Given the description of an element on the screen output the (x, y) to click on. 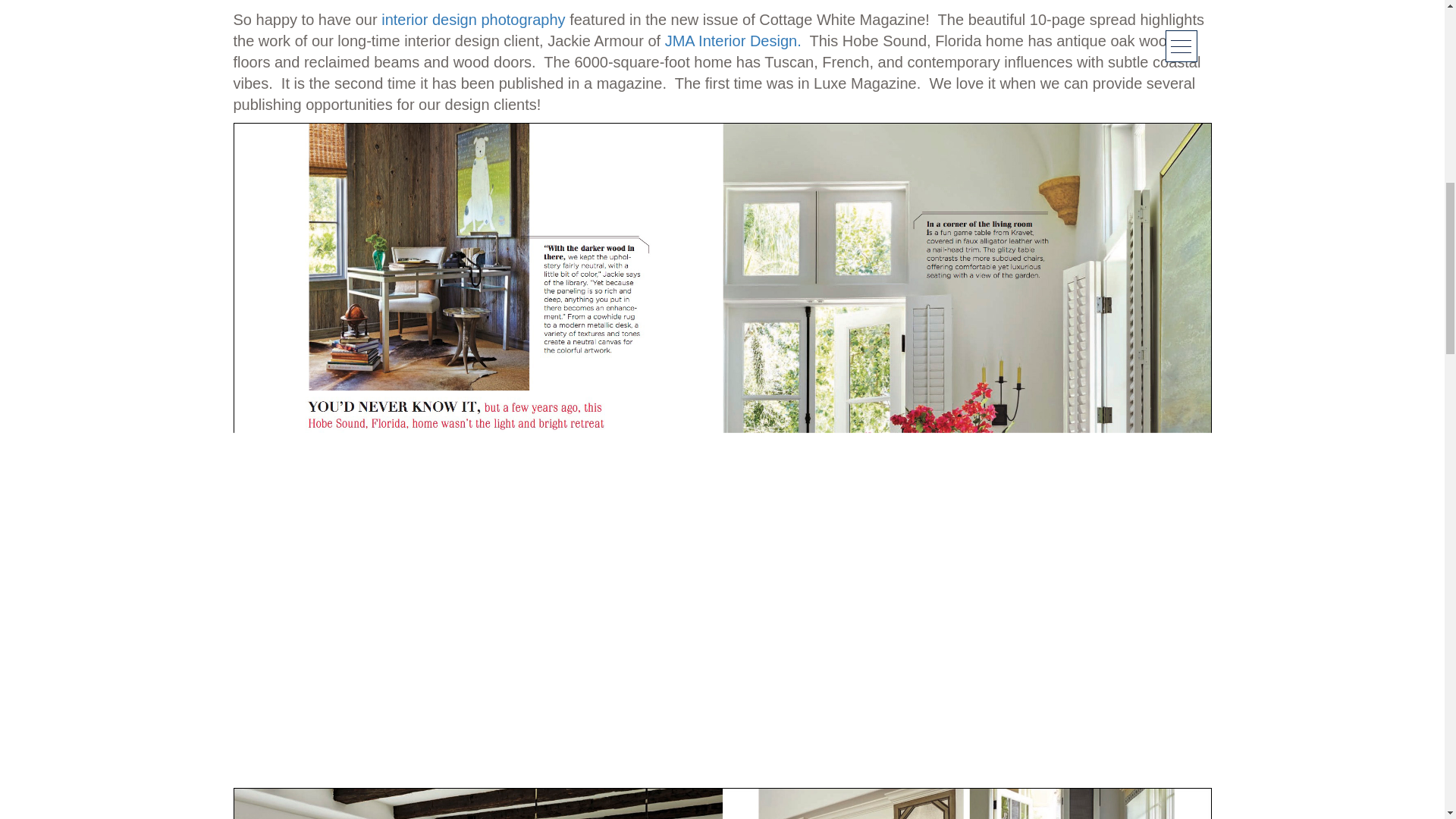
JMA Interior Design. (733, 40)
interior design photography (472, 19)
